Given the description of an element on the screen output the (x, y) to click on. 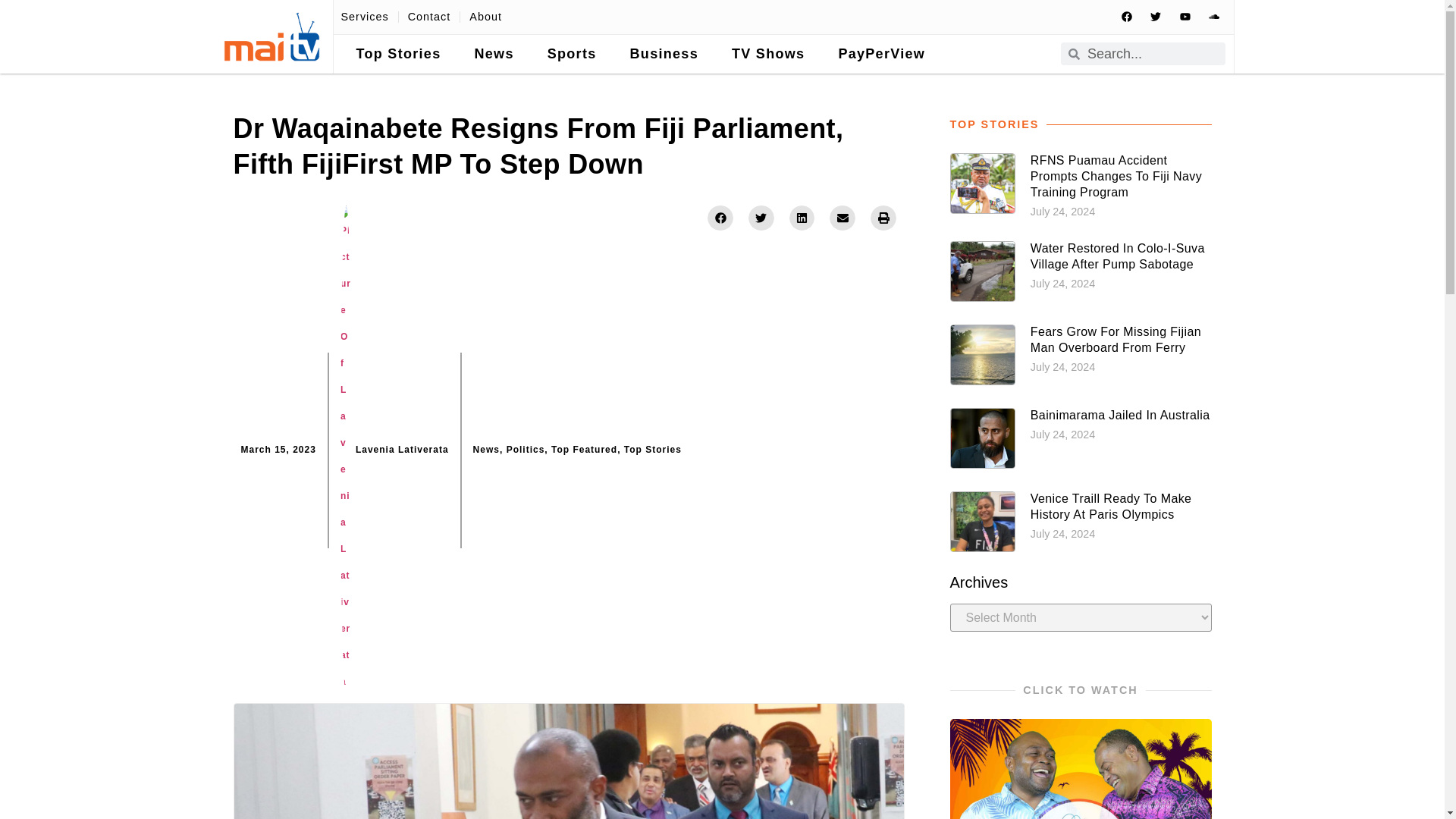
TV Shows (767, 54)
Contact (429, 17)
Top Stories (398, 54)
Services (364, 17)
Sports (571, 54)
Business (663, 54)
PayPerView (881, 54)
About (485, 17)
News (493, 54)
